Given the description of an element on the screen output the (x, y) to click on. 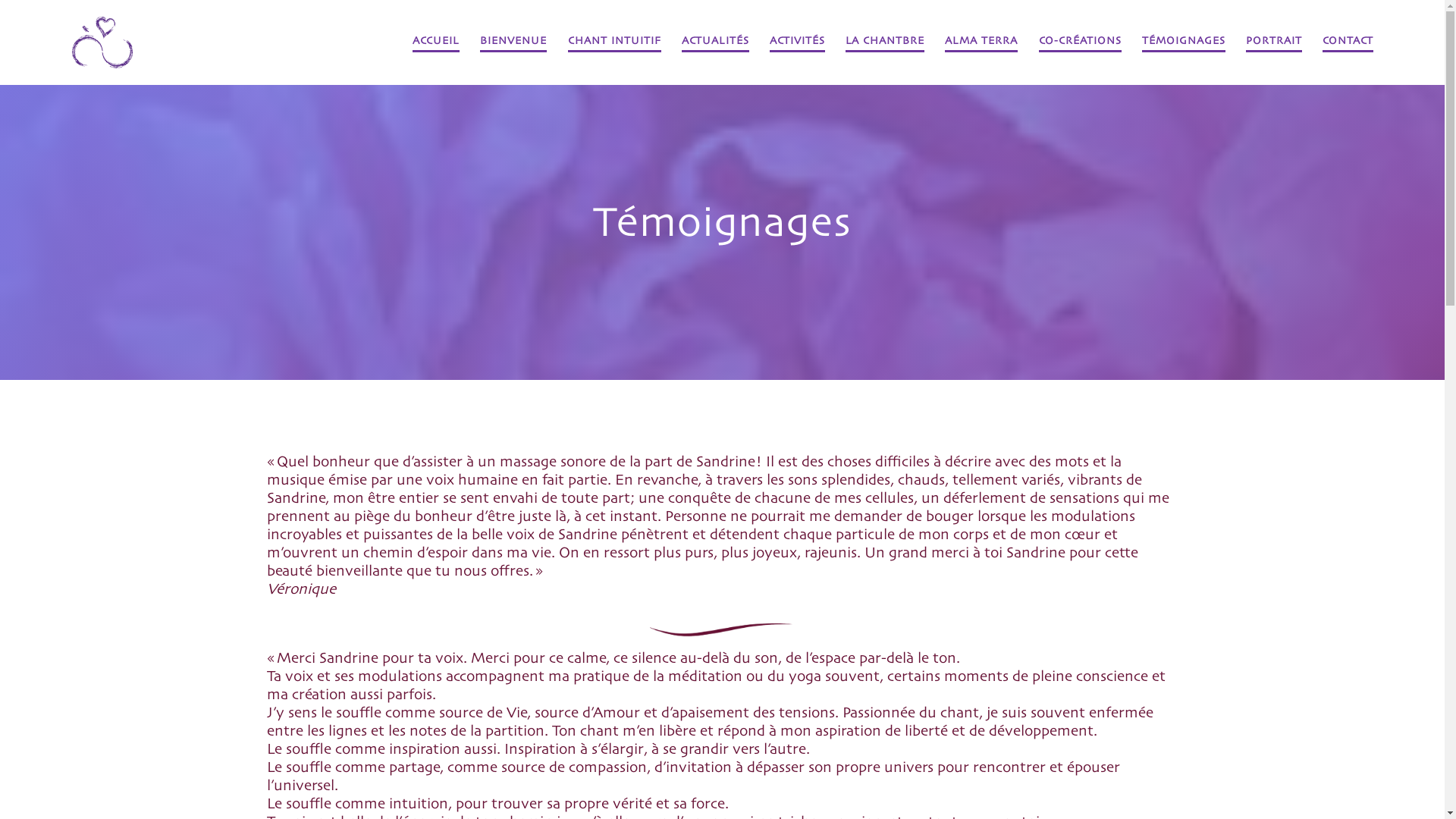
CHANT INTUITIF Element type: text (614, 41)
ALMA TERRA Element type: text (980, 41)
BIENVENUE Element type: text (513, 41)
PORTRAIT Element type: text (1273, 41)
CONTACT Element type: text (1347, 41)
ACCUEIL Element type: text (435, 41)
LA CHANTBRE Element type: text (884, 41)
